Given the description of an element on the screen output the (x, y) to click on. 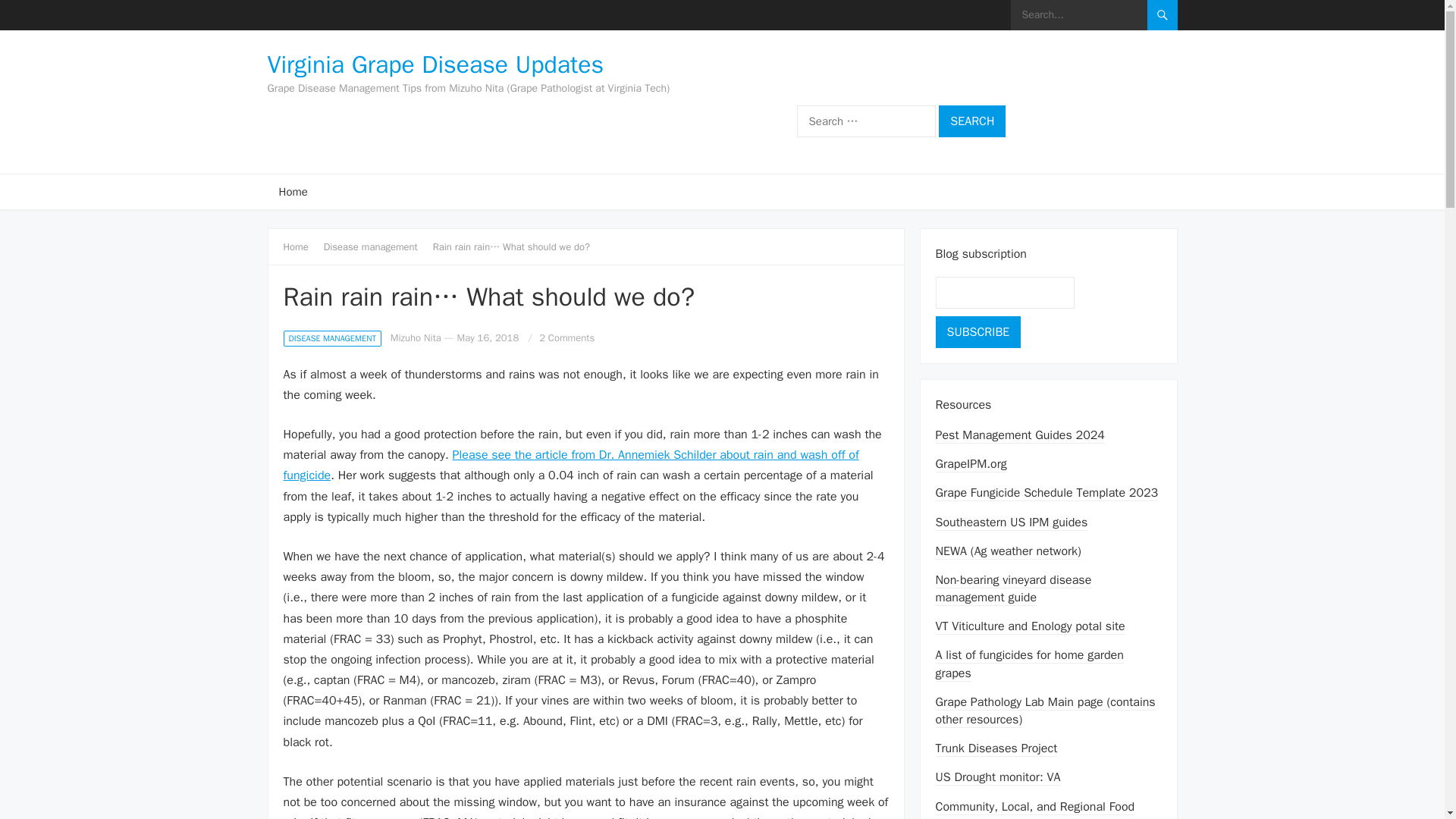
Home (300, 246)
Search (972, 121)
Subscribe (979, 332)
Mizuho Nita (415, 337)
DISEASE MANAGEMENT (332, 338)
GrapeIPM.org (971, 464)
Posts by Mizuho Nita (415, 337)
2 Comments (566, 337)
Search (972, 121)
Virginia Grape Disease Updates (467, 64)
